Given the description of an element on the screen output the (x, y) to click on. 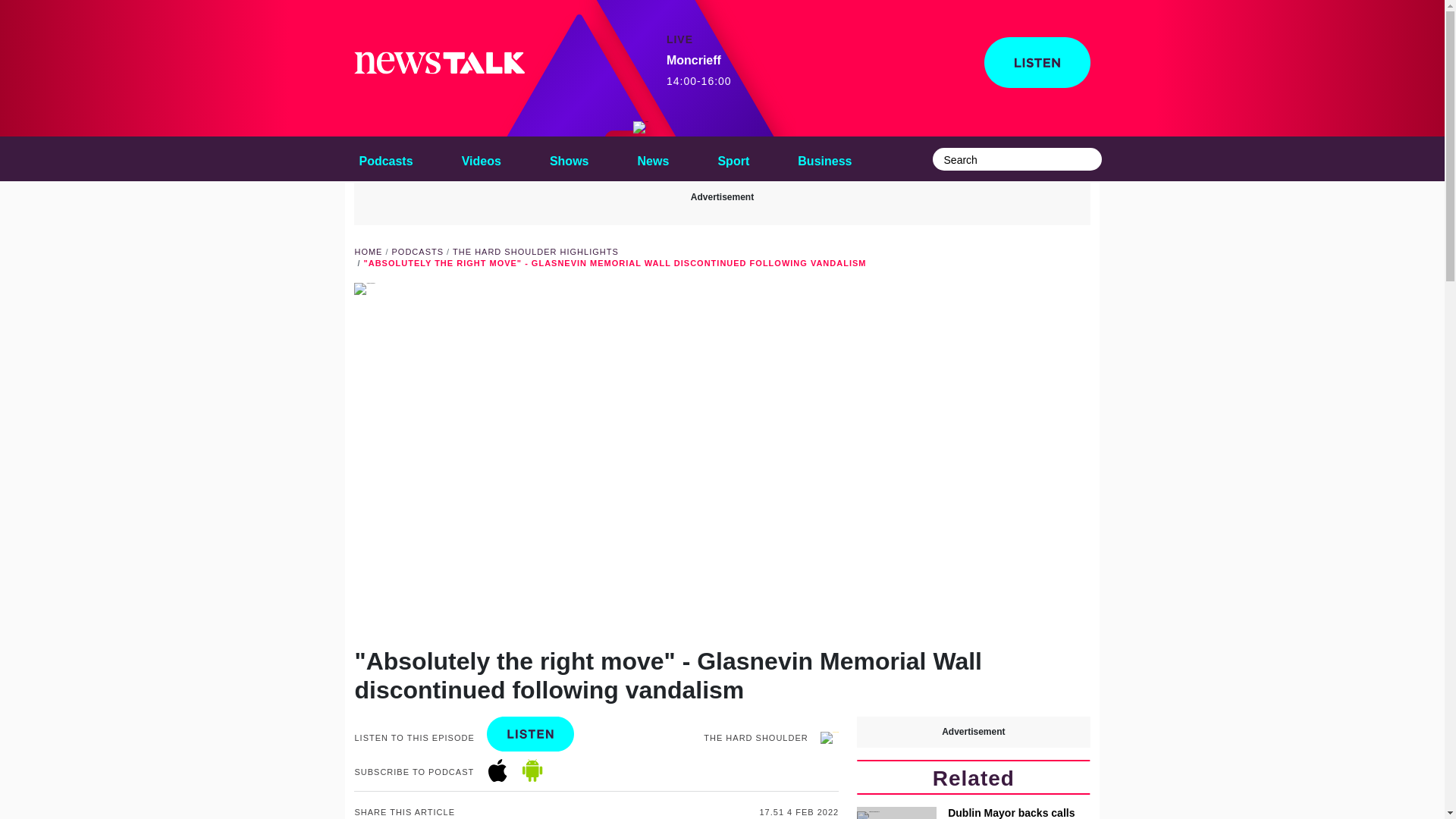
Shows (569, 158)
Moncrieff (640, 127)
Shows (569, 158)
HOME (367, 251)
Videos (481, 158)
Business (824, 158)
Sport (733, 158)
Business (824, 158)
News (653, 158)
Sport (733, 158)
Videos (699, 70)
Podcasts (481, 158)
PODCASTS (384, 158)
Podcasts (417, 251)
